Given the description of an element on the screen output the (x, y) to click on. 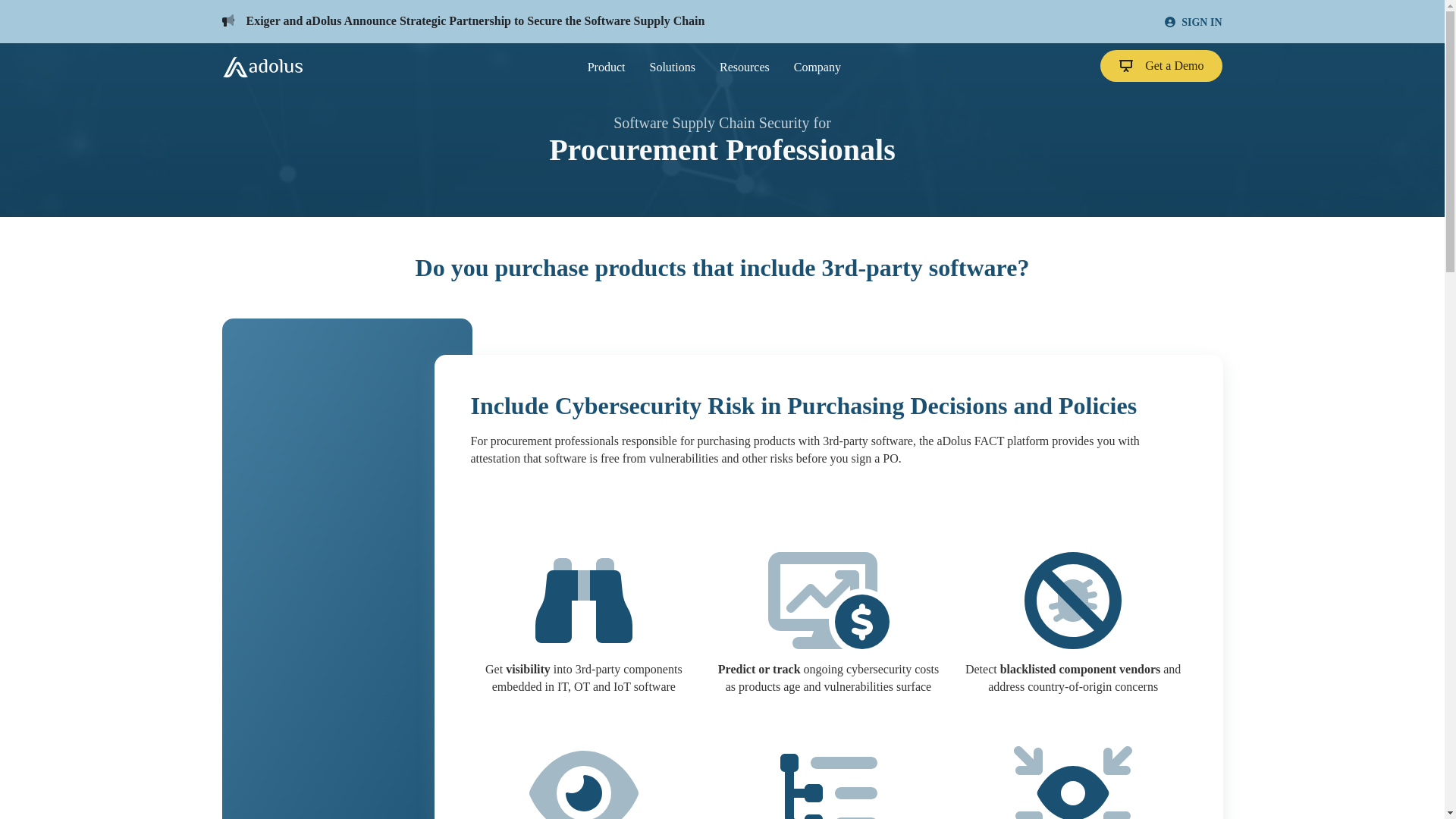
Get a Demo (1161, 65)
Resources (744, 67)
Company (817, 67)
Solutions (671, 67)
SIGN IN (1193, 22)
Product (605, 67)
